Given the description of an element on the screen output the (x, y) to click on. 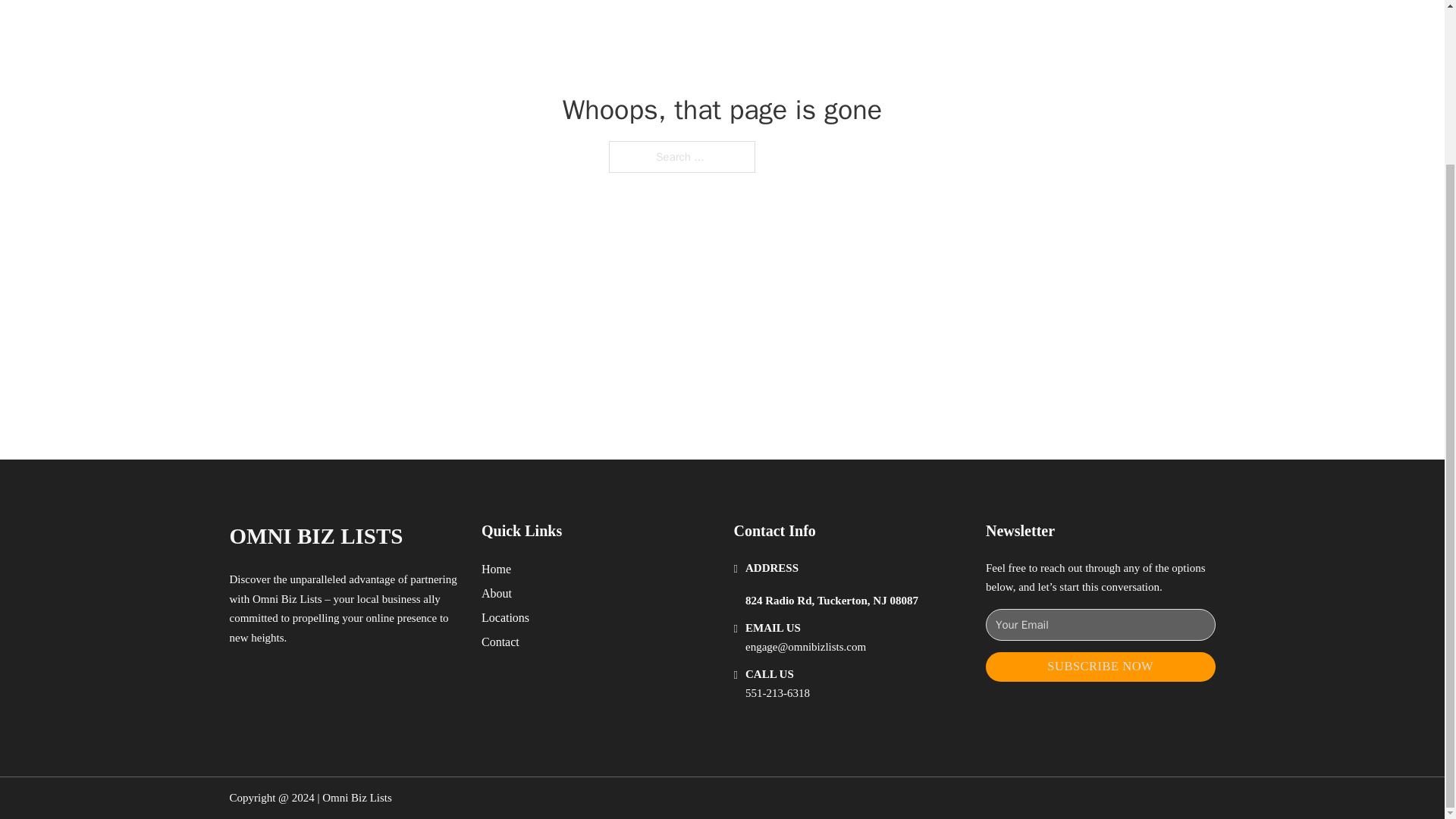
Home (496, 568)
Contact (500, 641)
OMNI BIZ LISTS (315, 536)
SUBSCRIBE NOW (1100, 666)
Locations (505, 617)
About (496, 593)
551-213-6318 (777, 693)
